Given the description of an element on the screen output the (x, y) to click on. 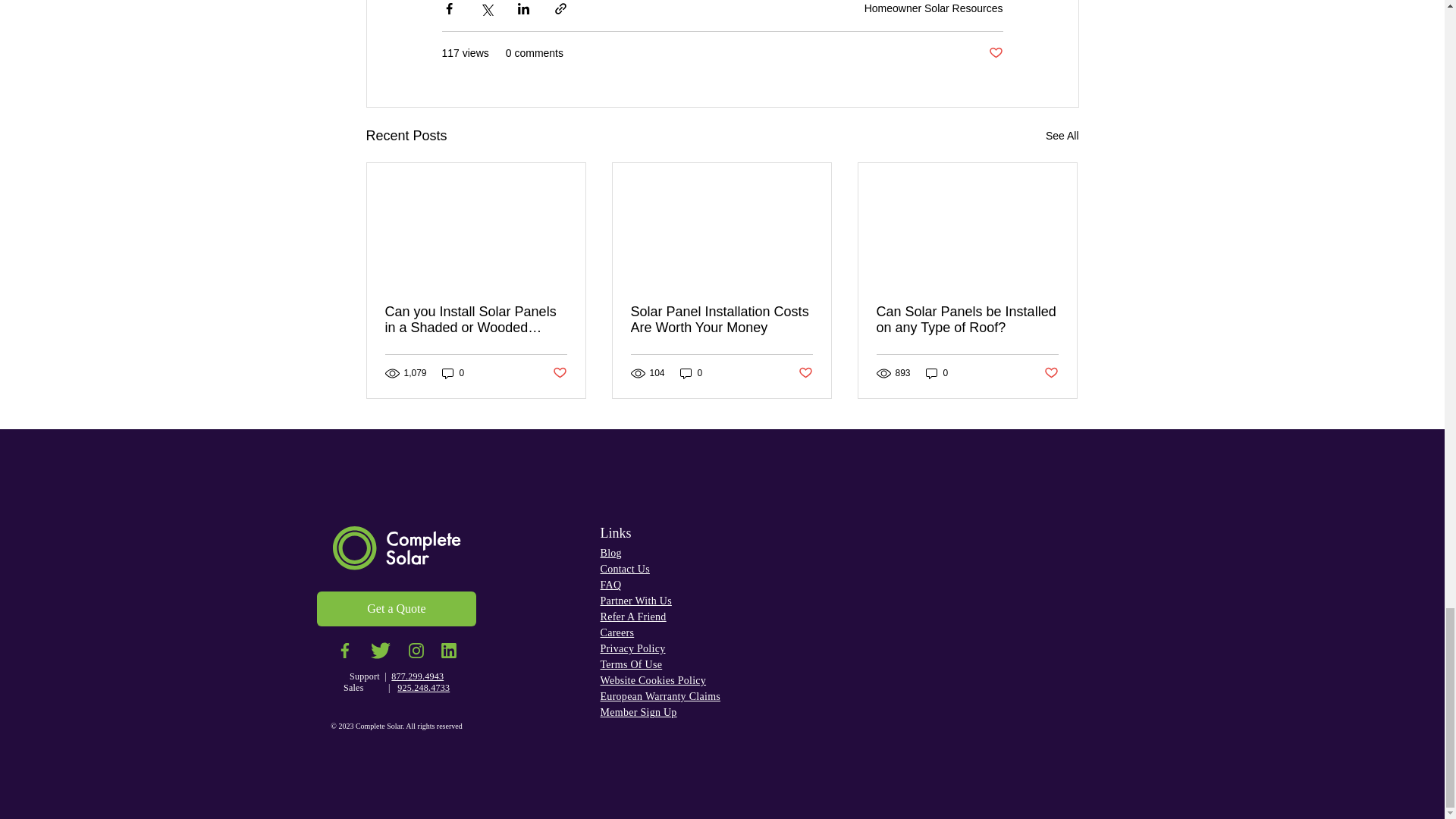
Homeowner Solar Resources (933, 8)
Post not marked as liked (995, 53)
See All (1061, 136)
